Given the description of an element on the screen output the (x, y) to click on. 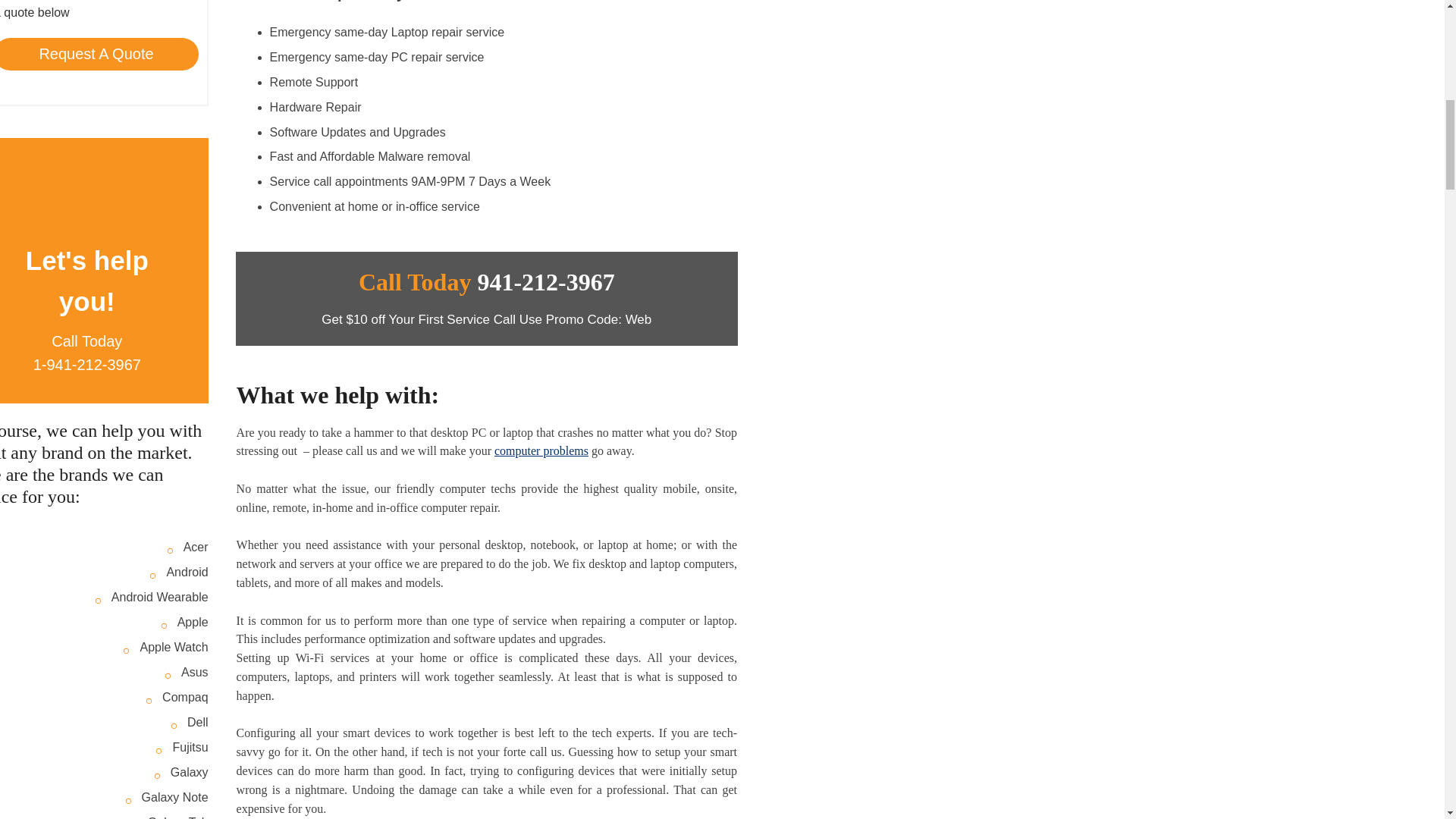
Request A Quote (99, 53)
1-941-212-3967 (87, 364)
Request A Quote (99, 53)
